Given the description of an element on the screen output the (x, y) to click on. 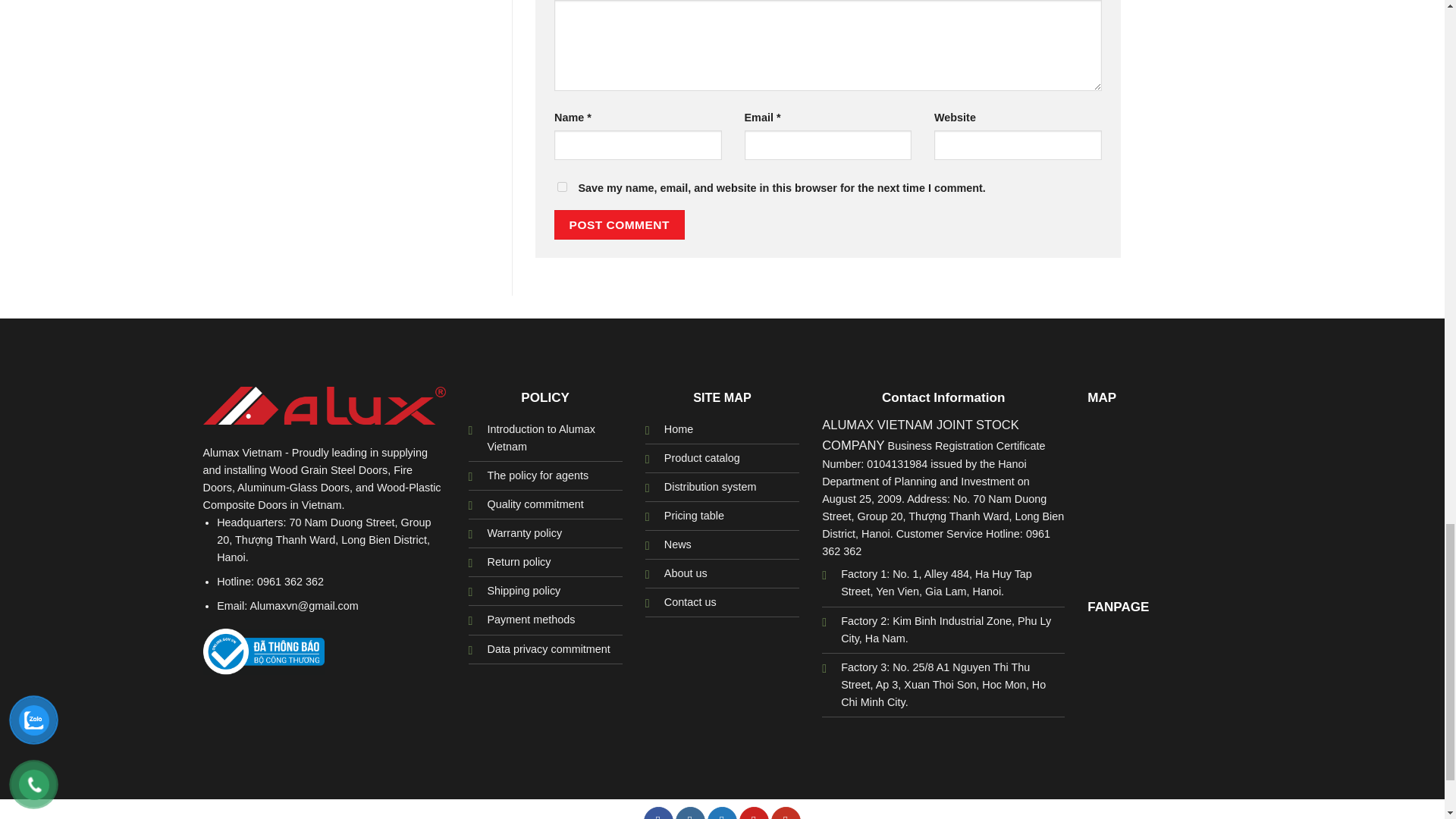
Post Comment (619, 224)
yes (562, 186)
Follow on Instagram (689, 812)
Follow on Facebook (657, 812)
